Given the description of an element on the screen output the (x, y) to click on. 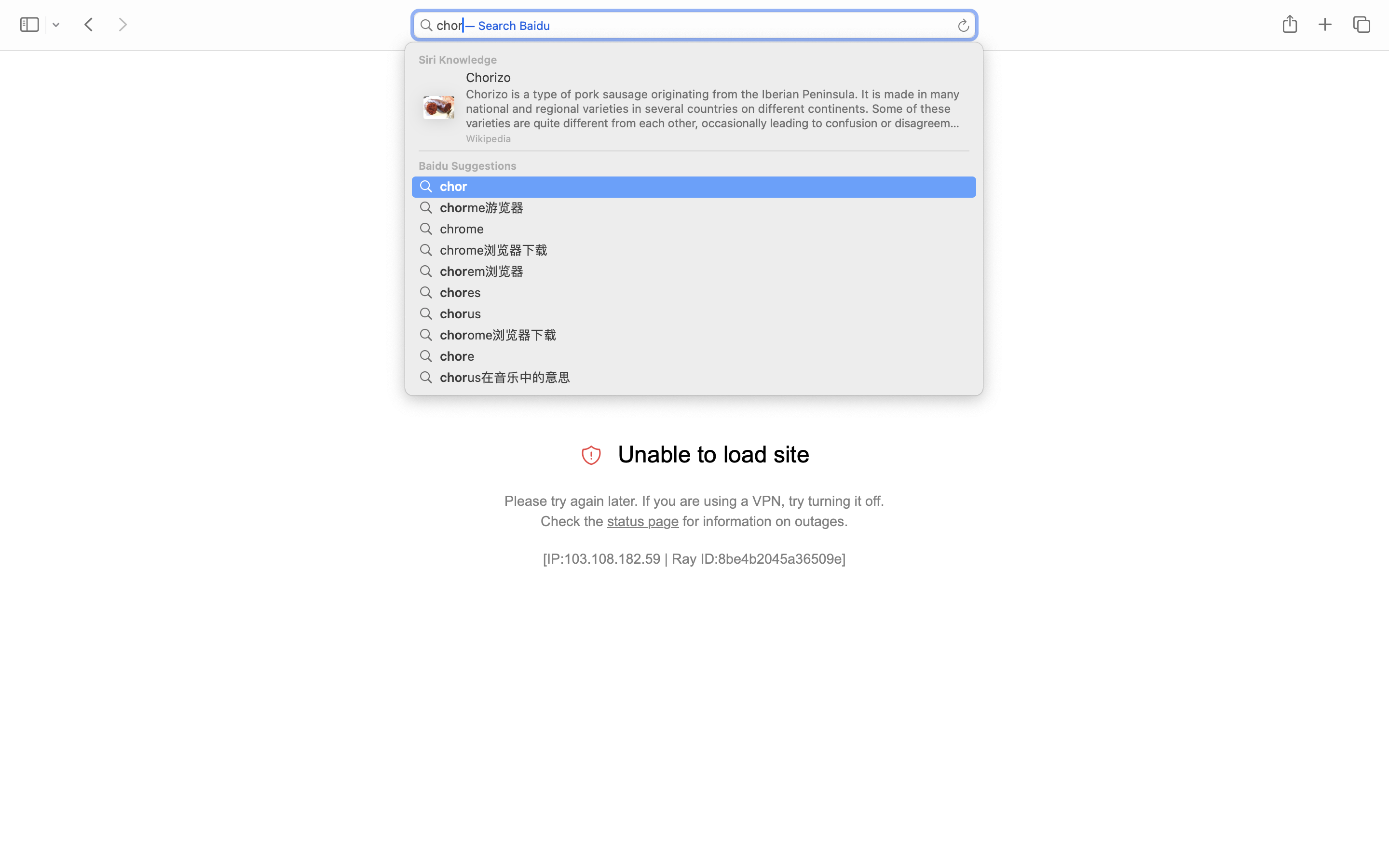
Chorizo Element type: AXStaticText (714, 76)
chor Element type: AXTextField (690, 30)
chor Element type: AXStaticText (454, 184)
for information on outages. Element type: AXStaticText (763, 521)
Chorizo is a type of pork sausage originating from the Iberian Peninsula. It is made in many national and regional varieties in several countries on different continents. Some of these varieties are quite different from each other, occasionally leading to confusion or disagreements over the names and identities of the products in question. Element type: AXStaticText (713, 107)
